Given the description of an element on the screen output the (x, y) to click on. 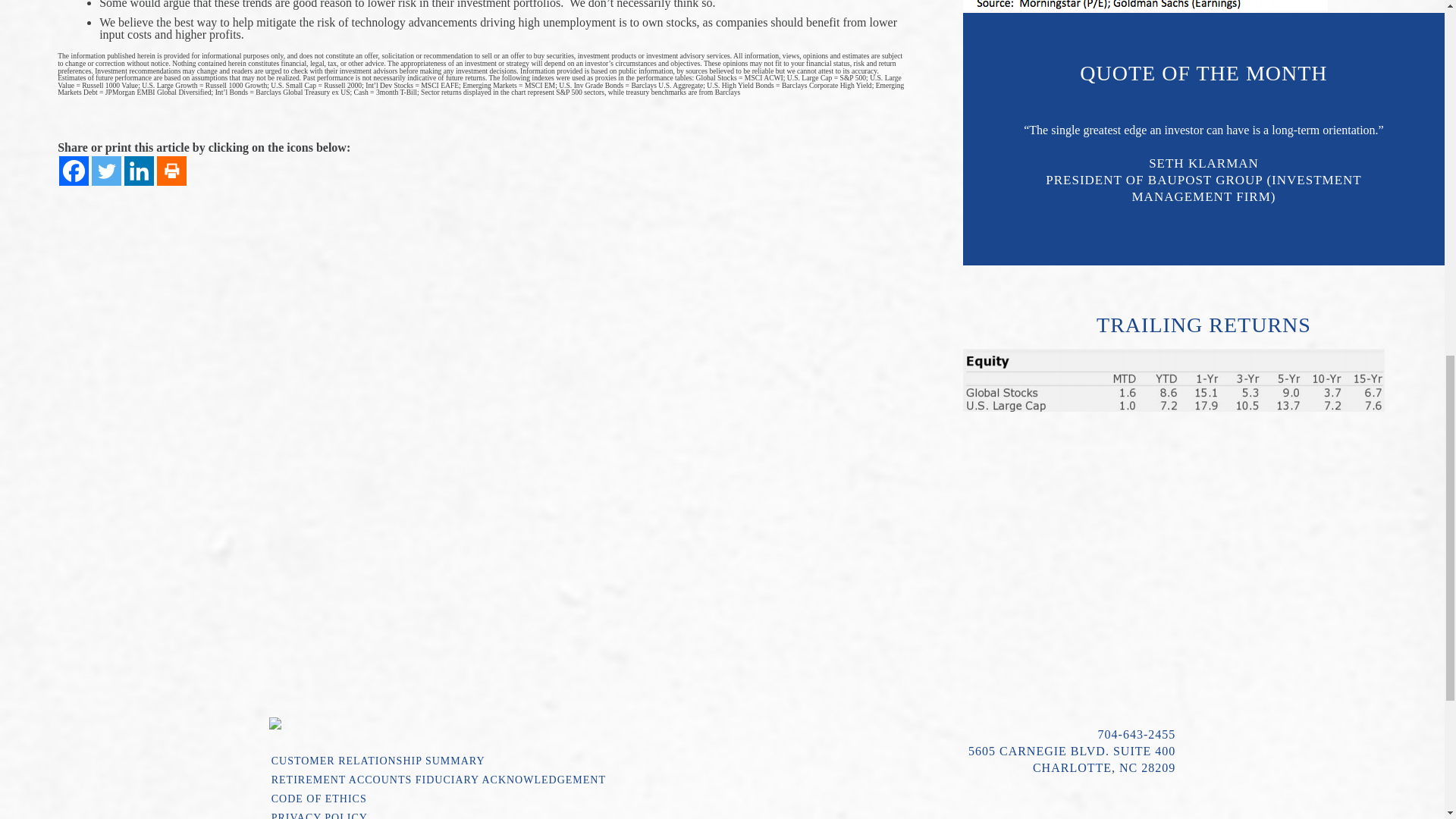
PRIVACY POLICY (491, 815)
Twitter (105, 170)
CUSTOMER RELATIONSHIP SUMMARY (491, 763)
Linkedin (138, 170)
Print (171, 170)
CODE OF ETHICS (491, 801)
RETIREMENT ACCOUNTS FIDUCIARY ACKNOWLEDGEMENT (491, 782)
Facebook (73, 170)
704-643-2455 (1136, 734)
